Given the description of an element on the screen output the (x, y) to click on. 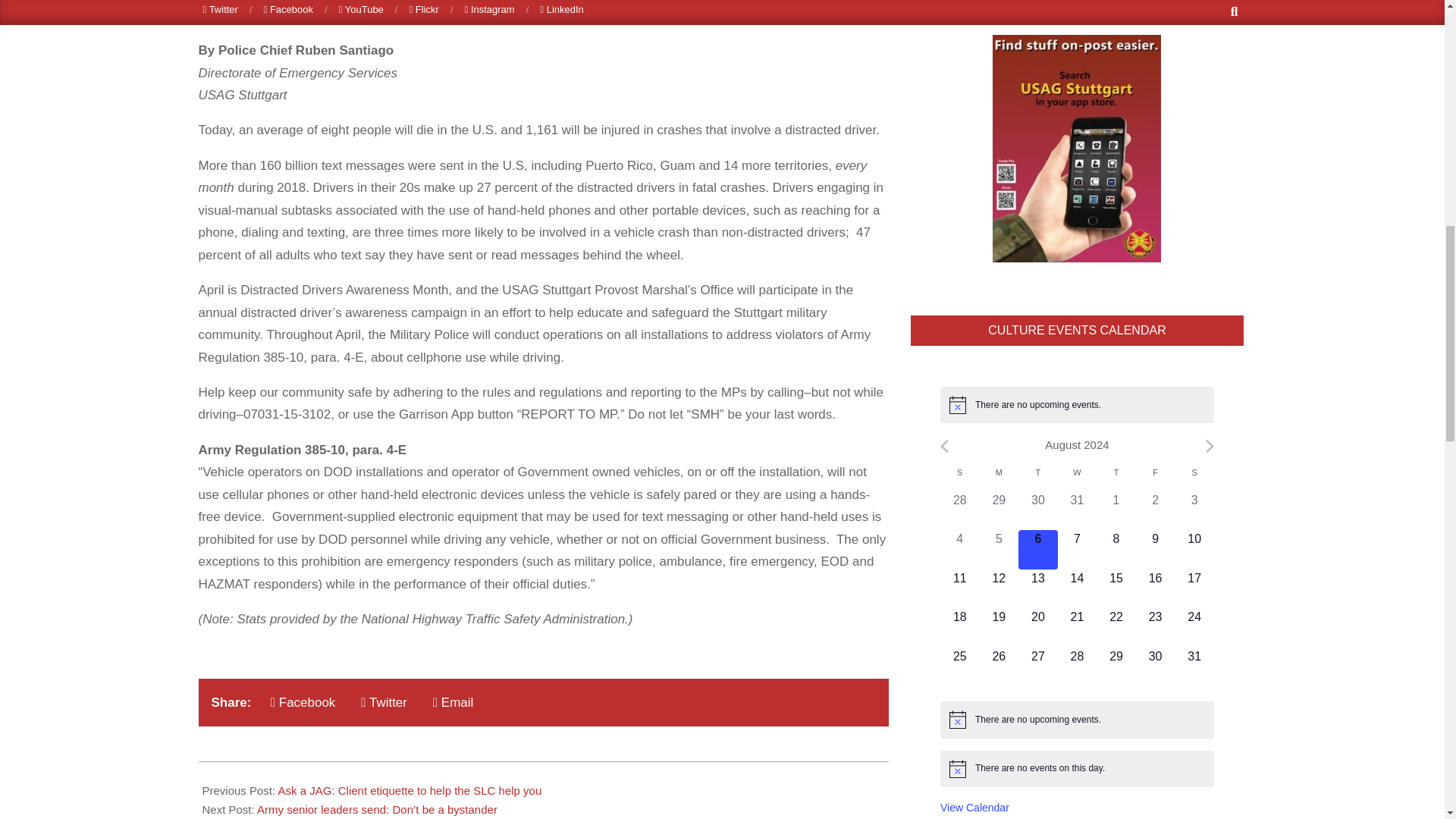
View more events. (974, 807)
Share via Email (452, 702)
Share on Twitter (384, 702)
Share on Facebook (302, 702)
